Given the description of an element on the screen output the (x, y) to click on. 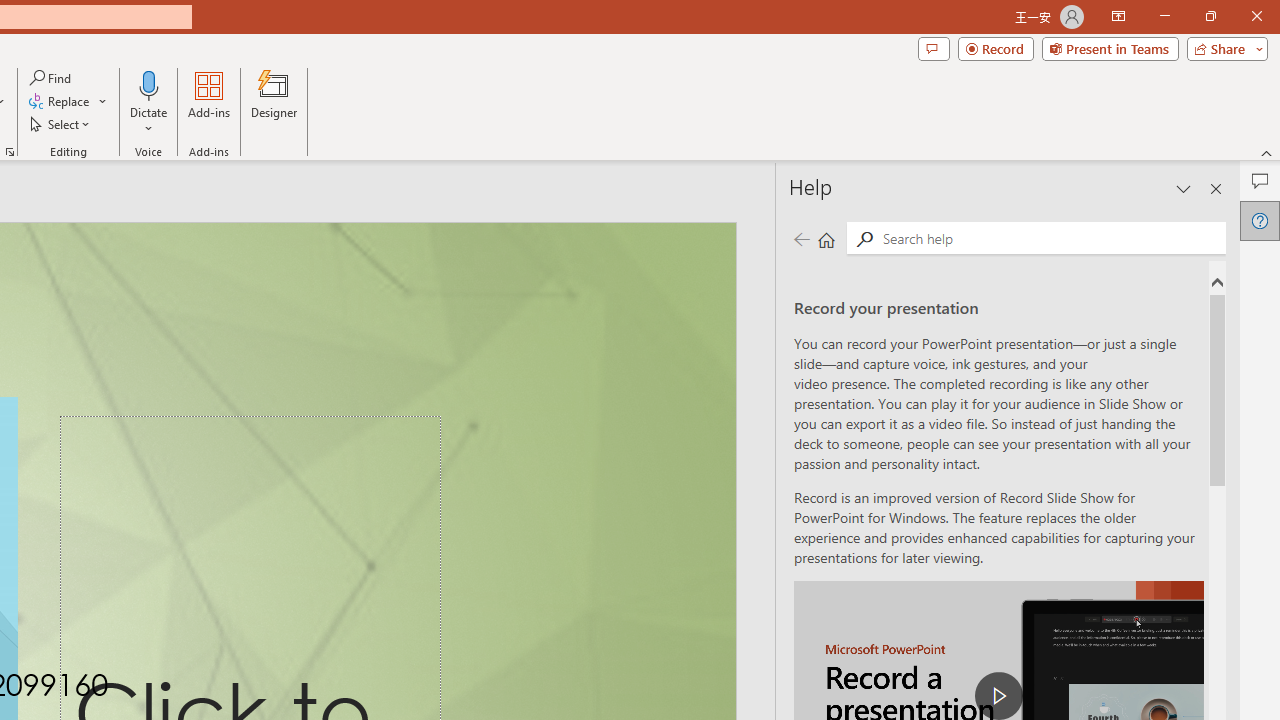
Previous page (801, 238)
